Given the description of an element on the screen output the (x, y) to click on. 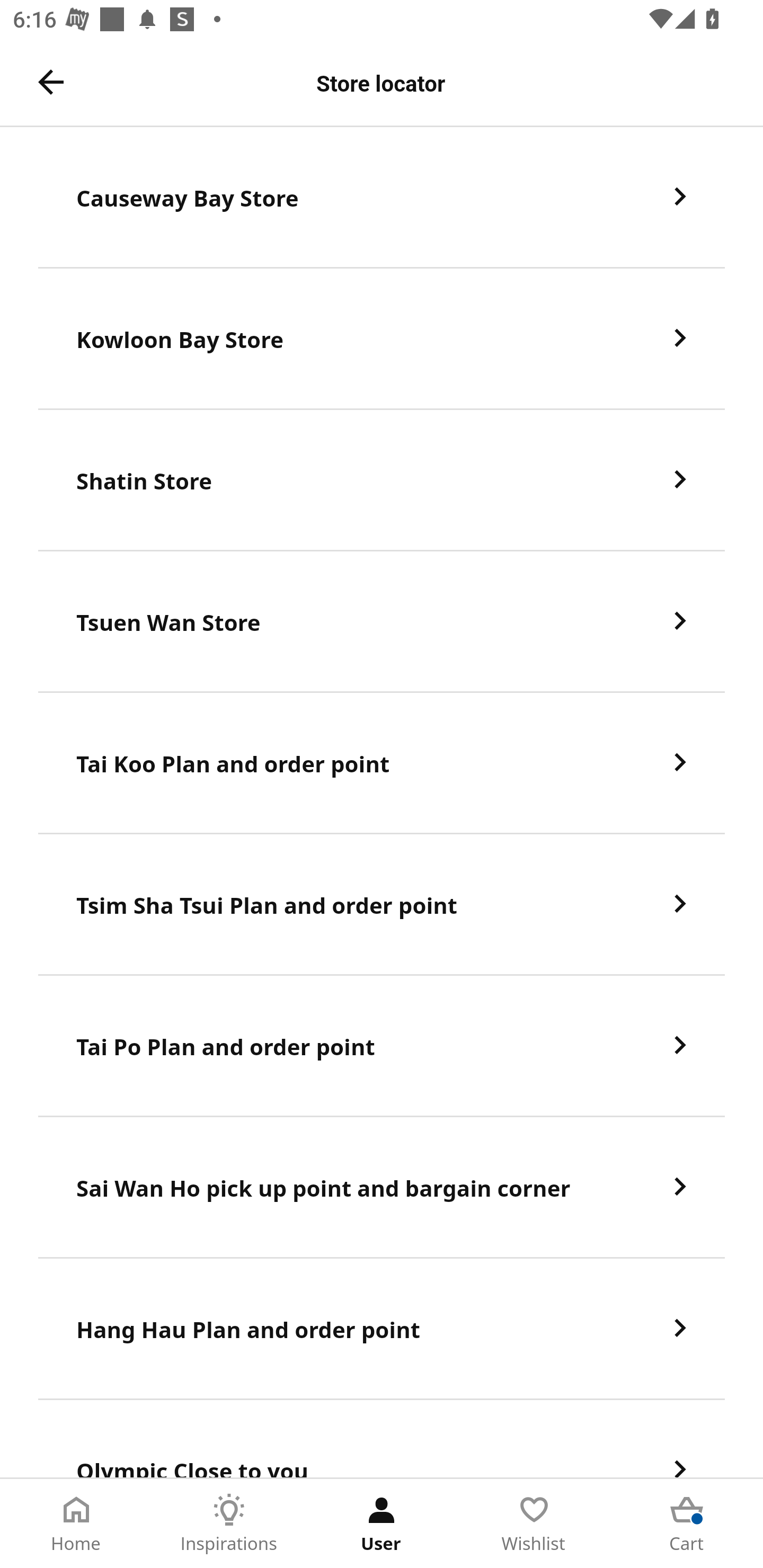
Causeway Bay Store (381, 197)
Kowloon Bay Store (381, 338)
Shatin Store (381, 480)
Tsuen Wan Store (381, 622)
Tai Koo Plan and order point (381, 763)
Tsim Sha Tsui Plan and order point (381, 904)
Tai Po Plan and order point (381, 1045)
Sai Wan Ho pick up point and bargain corner (381, 1187)
Hang Hau Plan and order point (381, 1329)
Olympic Close to you (381, 1438)
Home
Tab 1 of 5 (76, 1522)
Inspirations
Tab 2 of 5 (228, 1522)
User
Tab 3 of 5 (381, 1522)
Wishlist
Tab 4 of 5 (533, 1522)
Cart
Tab 5 of 5 (686, 1522)
